Given the description of an element on the screen output the (x, y) to click on. 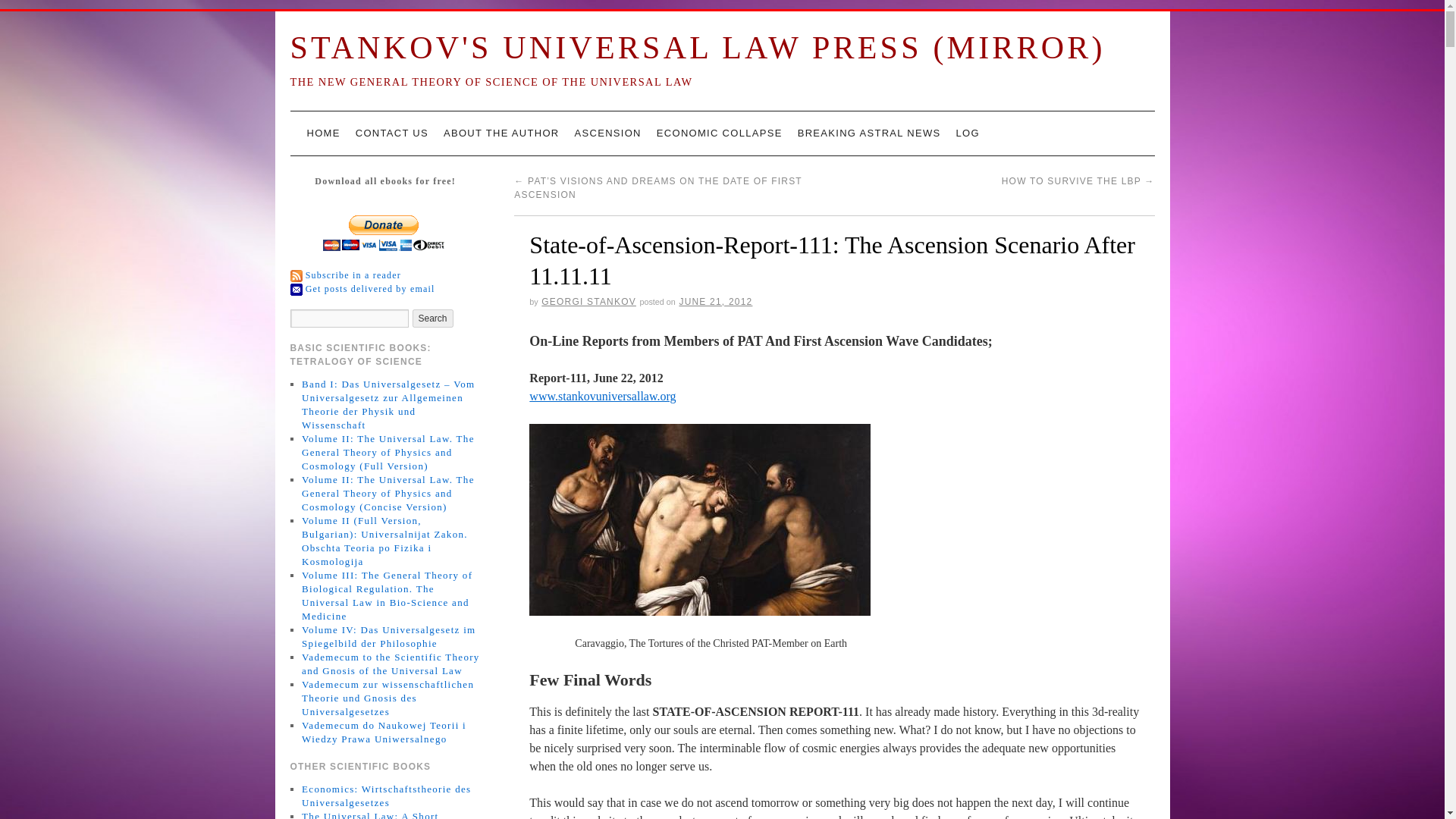
HOME (322, 133)
ECONOMIC COLLAPSE (719, 133)
www.stankovuniversallaw.org (602, 395)
PayPal - The safer, easier way to pay online! (383, 232)
ASCENSION (608, 133)
JUNE 21, 2012 (715, 301)
CONTACT US (391, 133)
Subscribe in a reader (353, 275)
LOG (967, 133)
GEORGI STANKOV (588, 301)
